Given the description of an element on the screen output the (x, y) to click on. 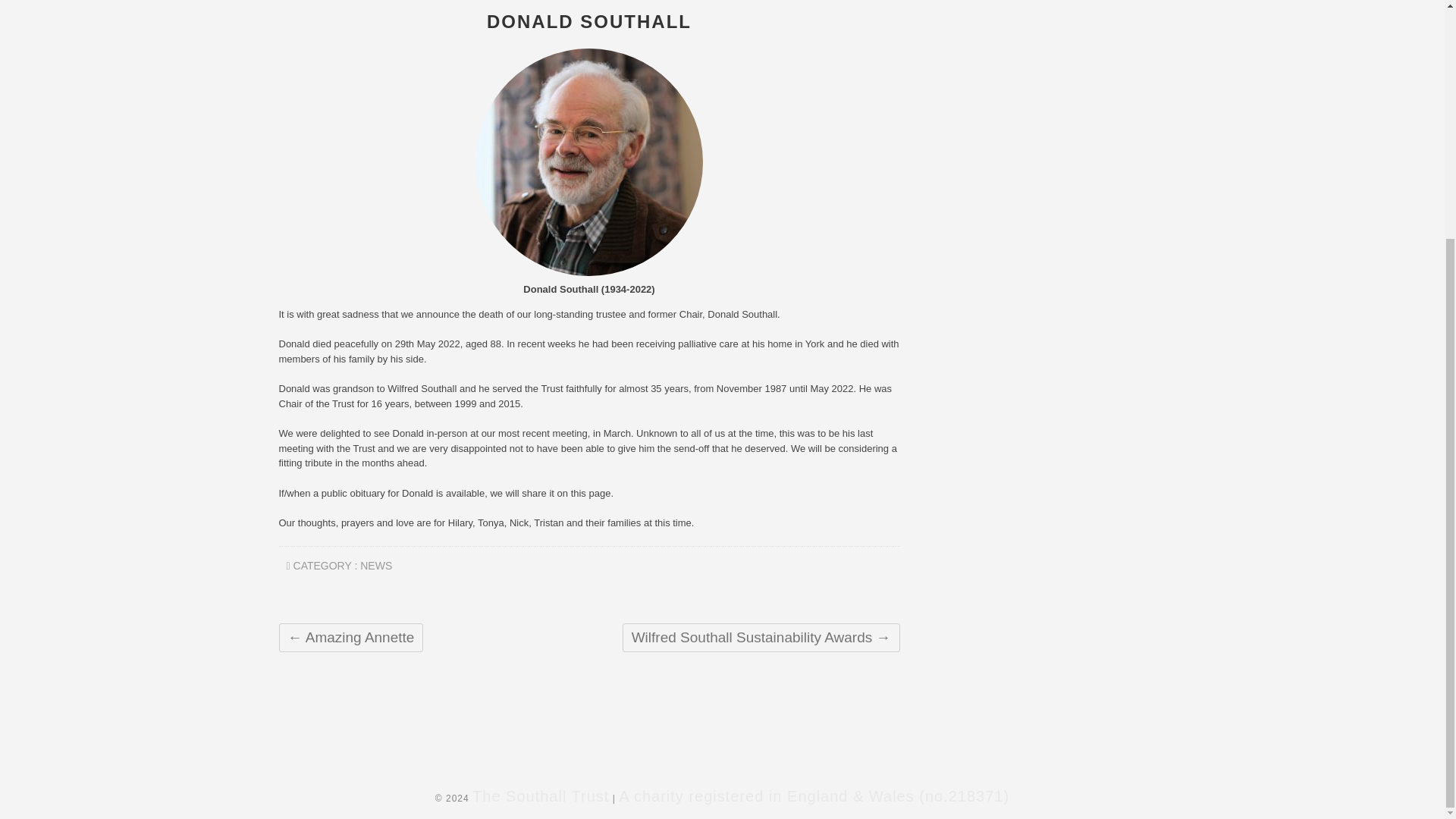
The Southall Trust (539, 795)
NEWS (375, 571)
The Southall Trust (539, 795)
